Given the description of an element on the screen output the (x, y) to click on. 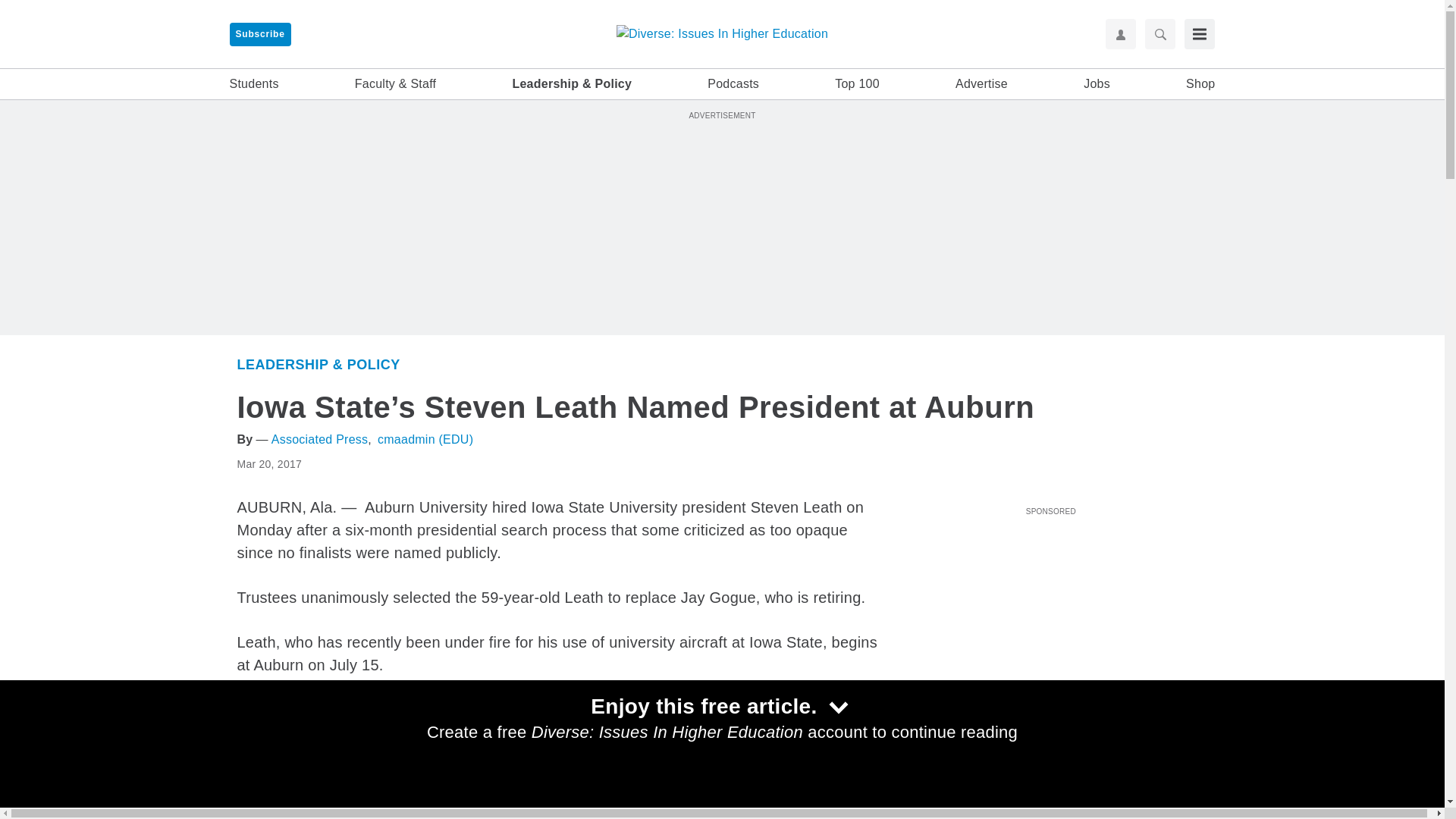
Shop (1200, 84)
Students (923, 777)
Students (253, 84)
Jobs (1096, 84)
Podcasts (732, 84)
Advertise (981, 84)
Youtube Player (1050, 606)
Top 100 (856, 84)
Subscribe (258, 33)
Subscribe (258, 33)
